Given the description of an element on the screen output the (x, y) to click on. 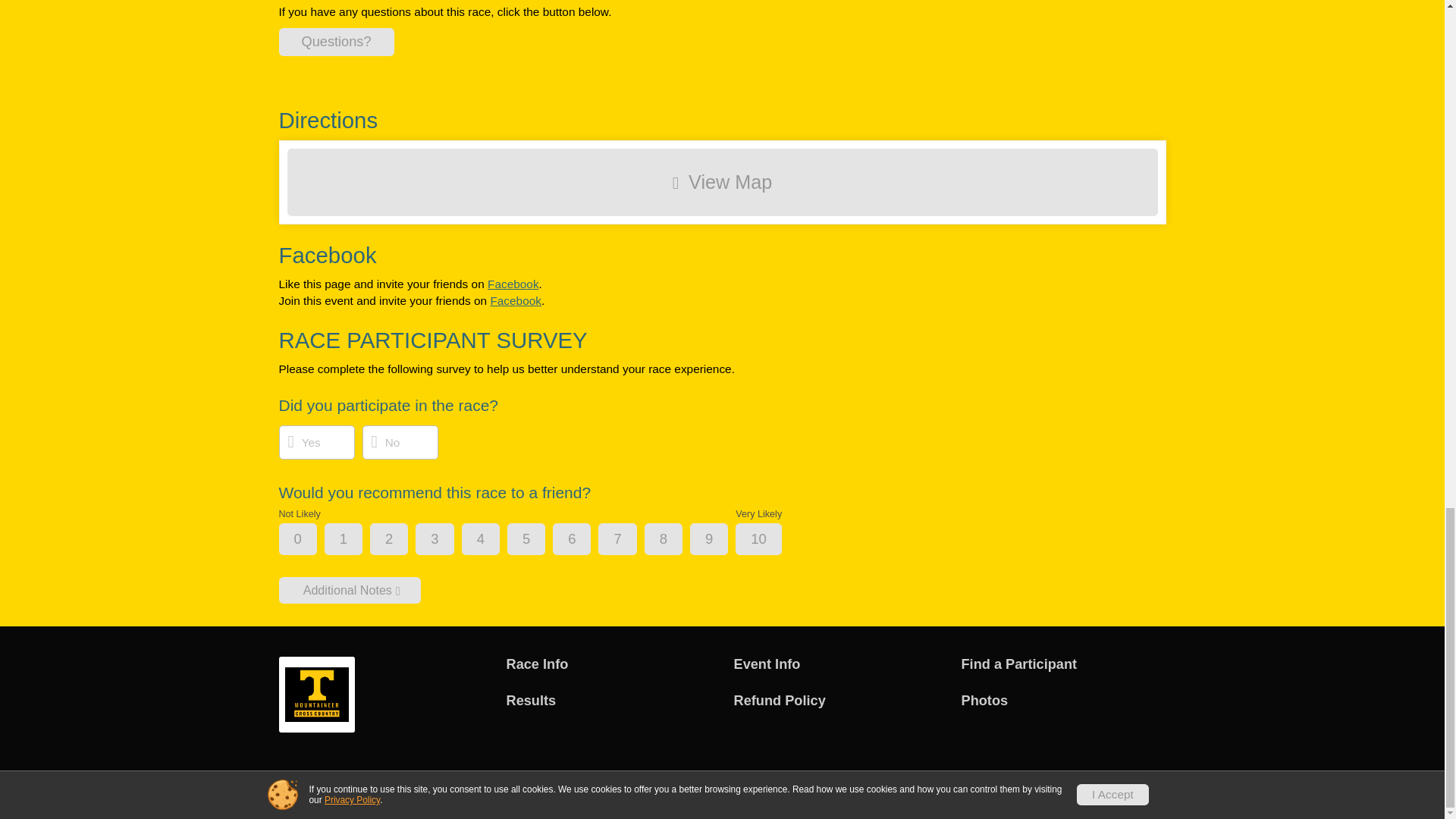
10 (770, 540)
View Map (721, 182)
Additional Notes (349, 589)
7 (629, 540)
2 (401, 540)
6 (584, 540)
Refund Policy (836, 700)
1 (355, 540)
Race Info (608, 664)
3 (447, 540)
